Given the description of an element on the screen output the (x, y) to click on. 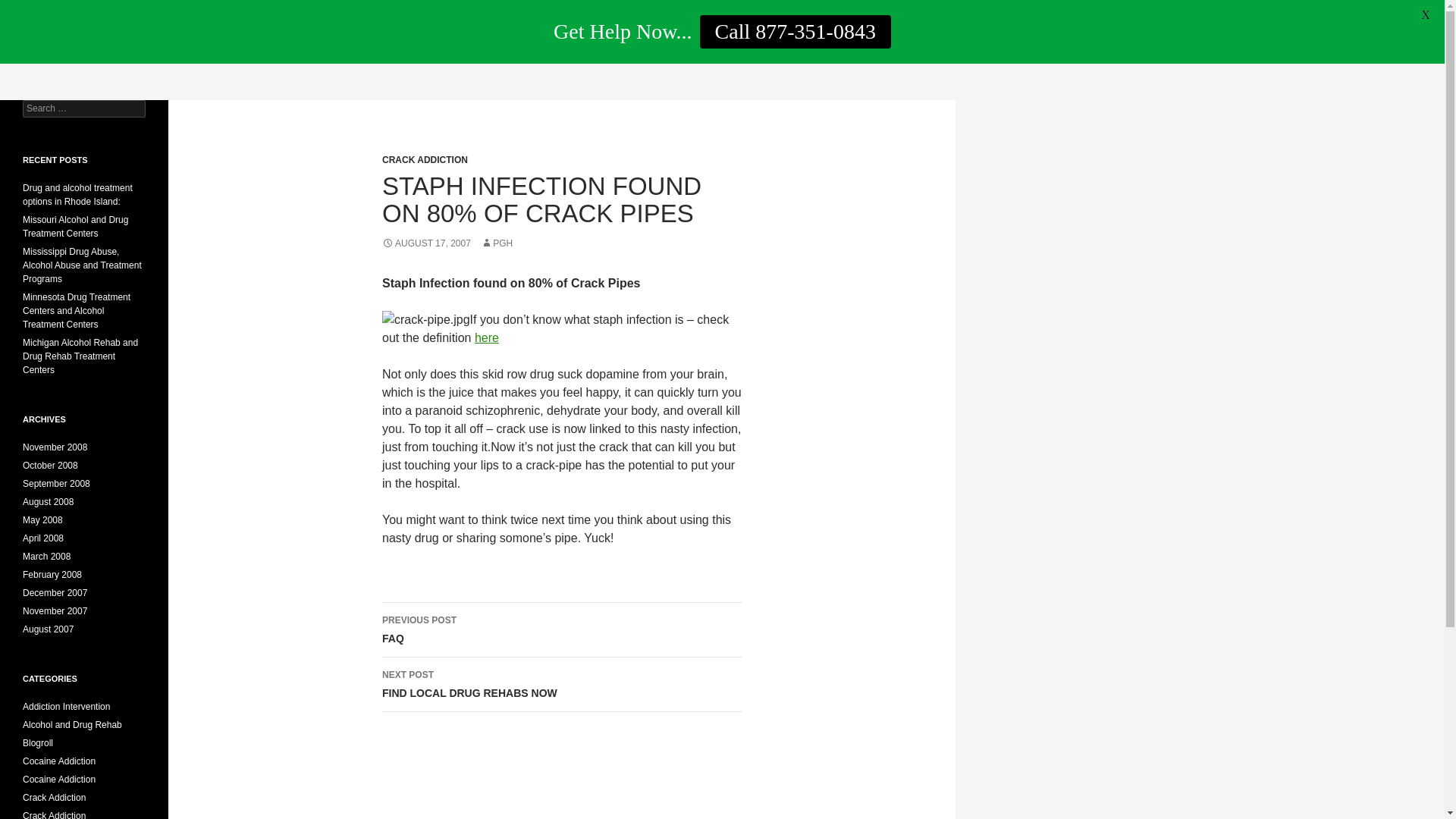
Drug and alcohol treatment options in Rhode Island: (77, 194)
PGH (496, 243)
Addiction Intervention (66, 706)
August 2008 (48, 501)
here (486, 337)
Search (30, 8)
May 2008 (42, 520)
March 2008 (46, 556)
October 2008 (50, 465)
Blogroll (37, 742)
February 2008 (561, 684)
